Given the description of an element on the screen output the (x, y) to click on. 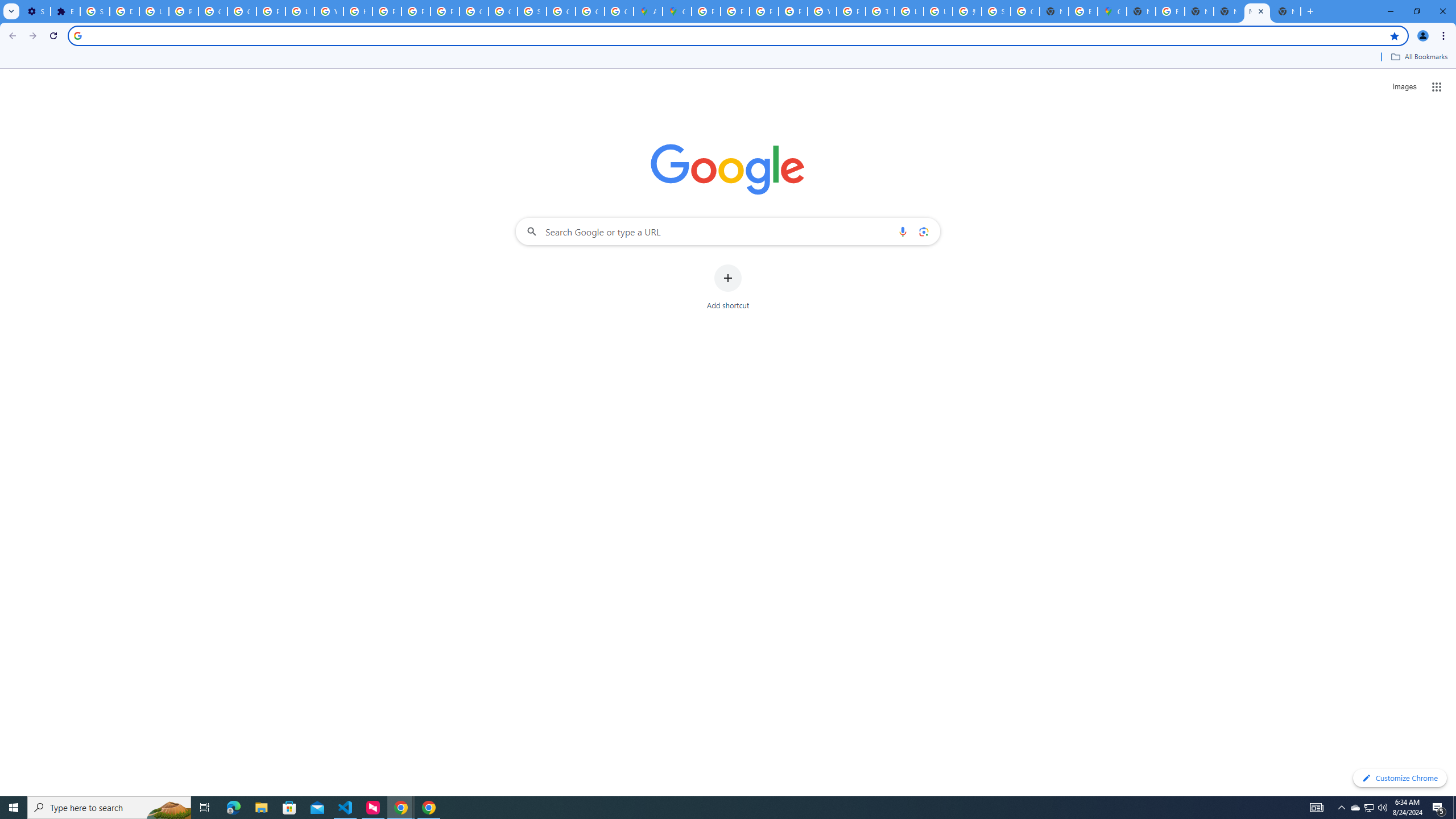
Privacy Help Center - Policies Help (734, 11)
Create your Google Account (619, 11)
Delete photos & videos - Computer - Google Photos Help (124, 11)
